Given the description of an element on the screen output the (x, y) to click on. 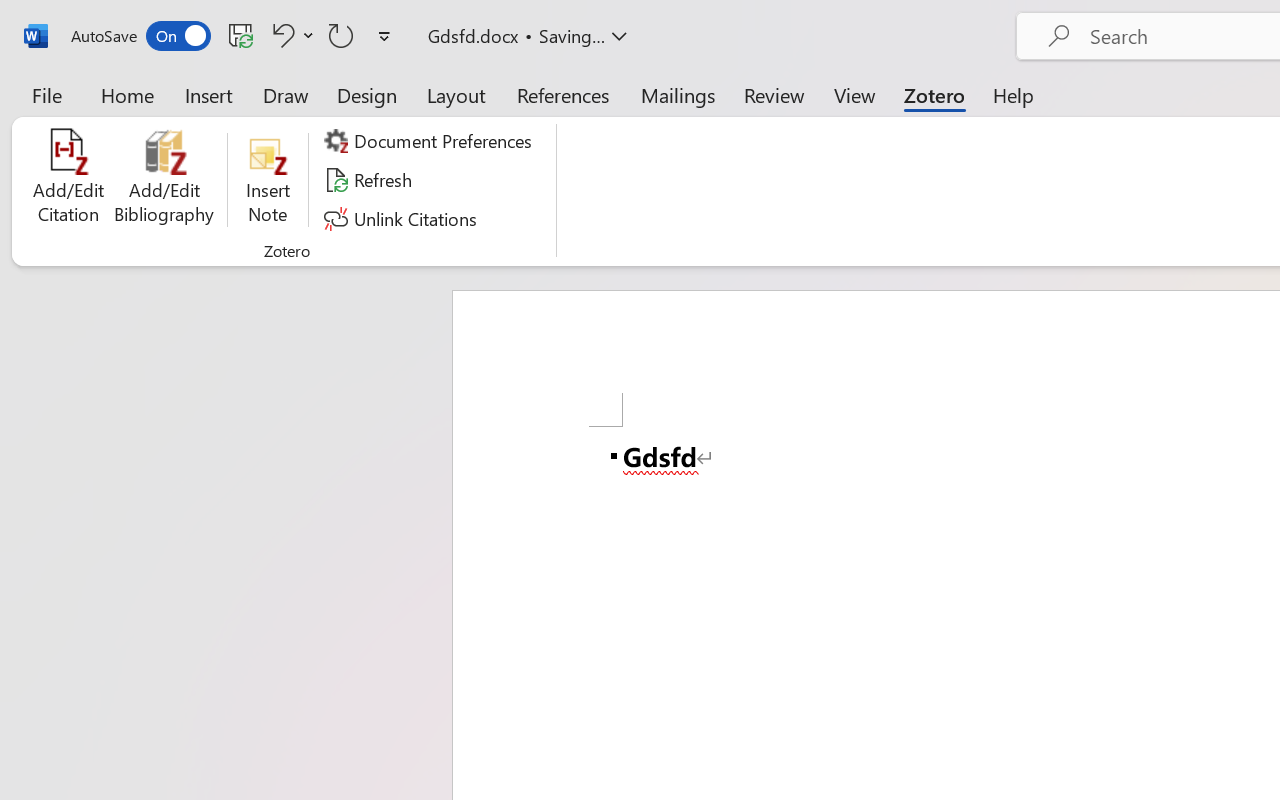
Undo <ApplyStyleToDoc>b__0 (290, 35)
Can't Repeat (341, 35)
Add/Edit Citation (68, 179)
Document Preferences (431, 141)
Insert Note (267, 179)
